Given the description of an element on the screen output the (x, y) to click on. 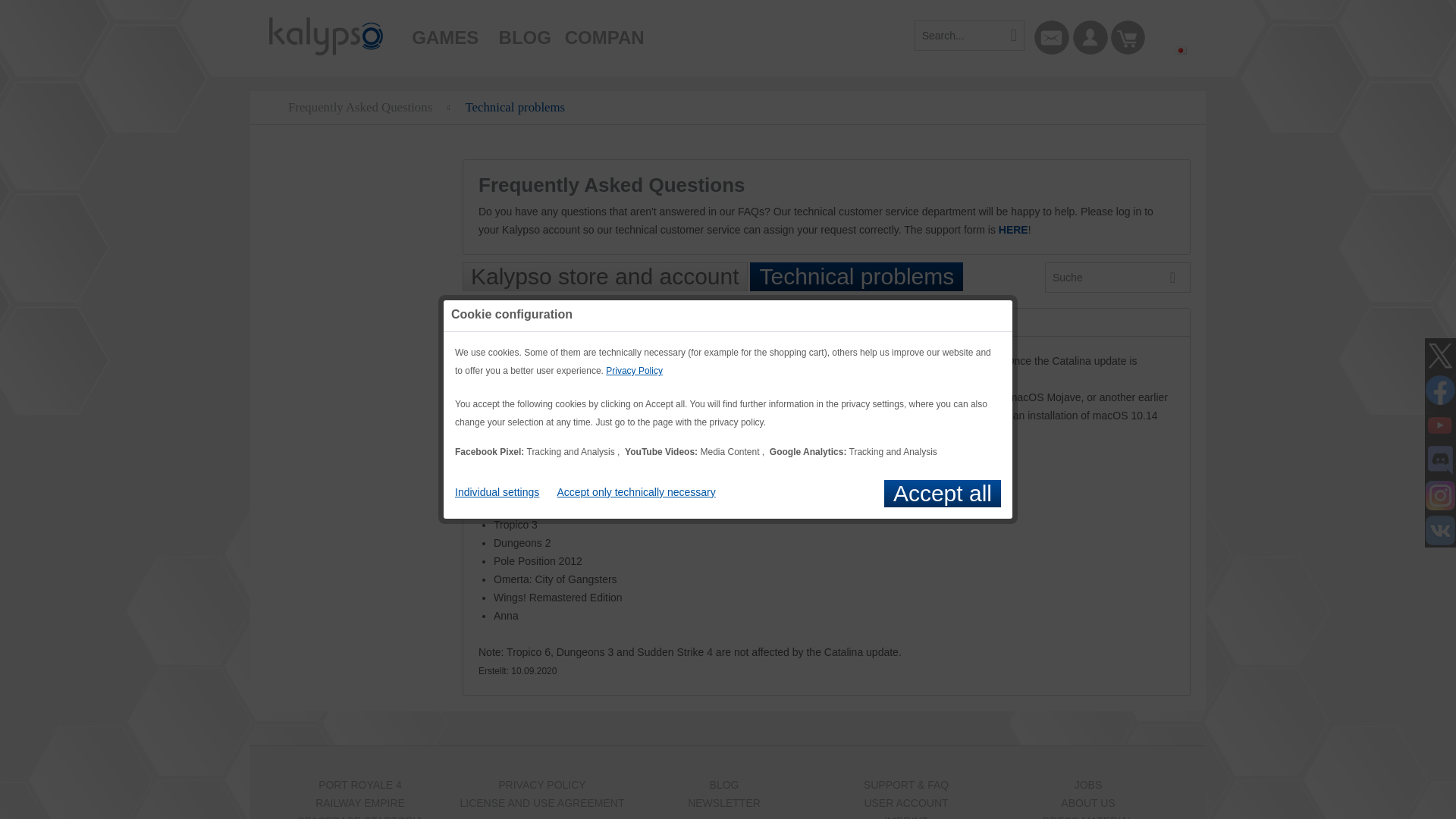
GAMES (445, 30)
Company (604, 30)
BLOG (524, 30)
Games (445, 30)
Blog (524, 30)
Kalypso US - Switch to homepage (325, 36)
COMPANY (604, 30)
